Given the description of an element on the screen output the (x, y) to click on. 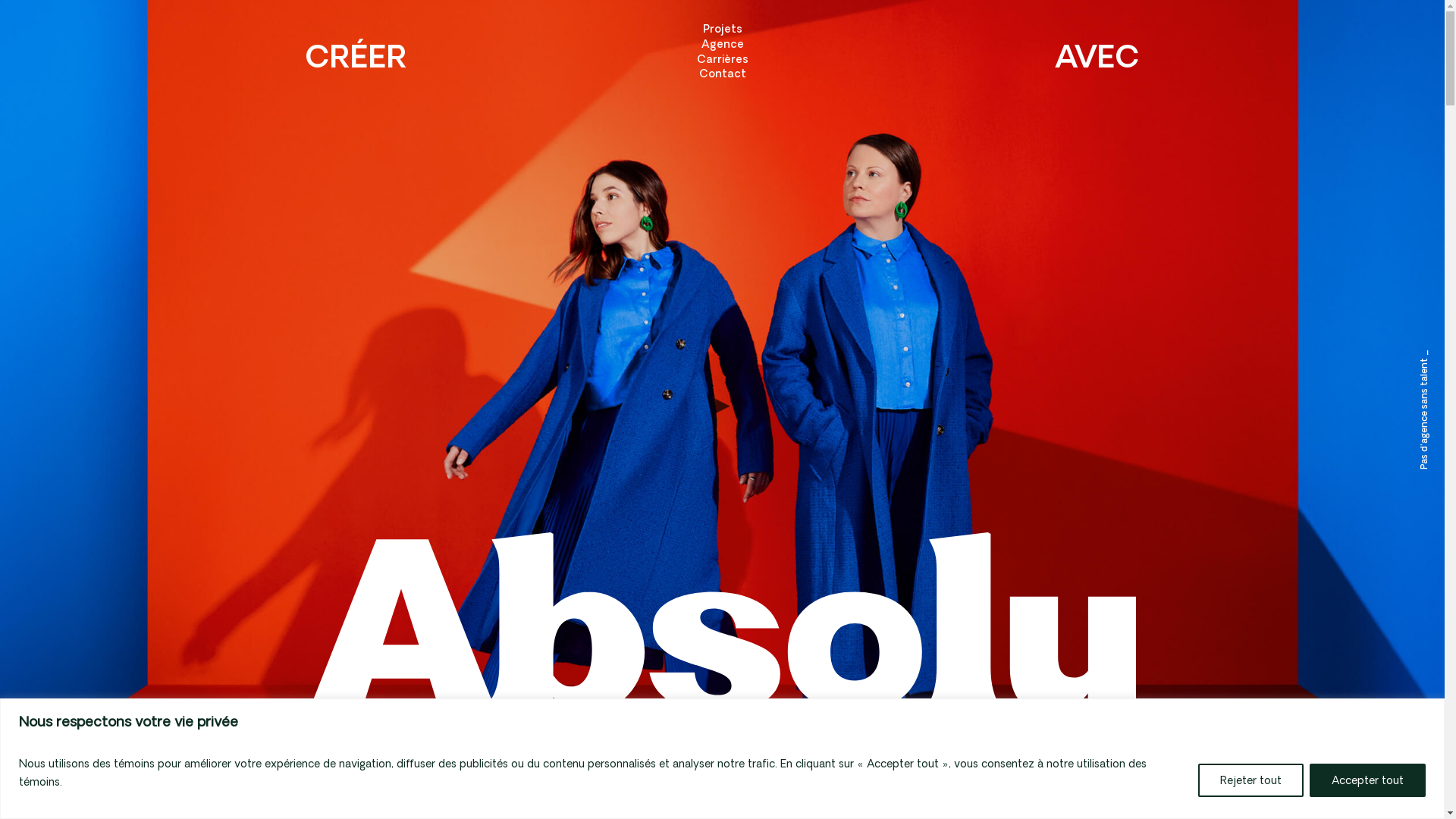
Contact Element type: text (722, 73)
Termes et conditions. Element type: text (432, 782)
Facebook Element type: text (1085, 782)
Instagram Element type: text (1145, 782)
Alors, on se parle? Element type: text (721, 290)
Projets Element type: text (721, 28)
Agence Element type: text (721, 43)
Accepter tout Element type: text (1367, 779)
Rejeter tout Element type: text (1250, 779)
LinkedIn Element type: text (1200, 782)
